Given the description of an element on the screen output the (x, y) to click on. 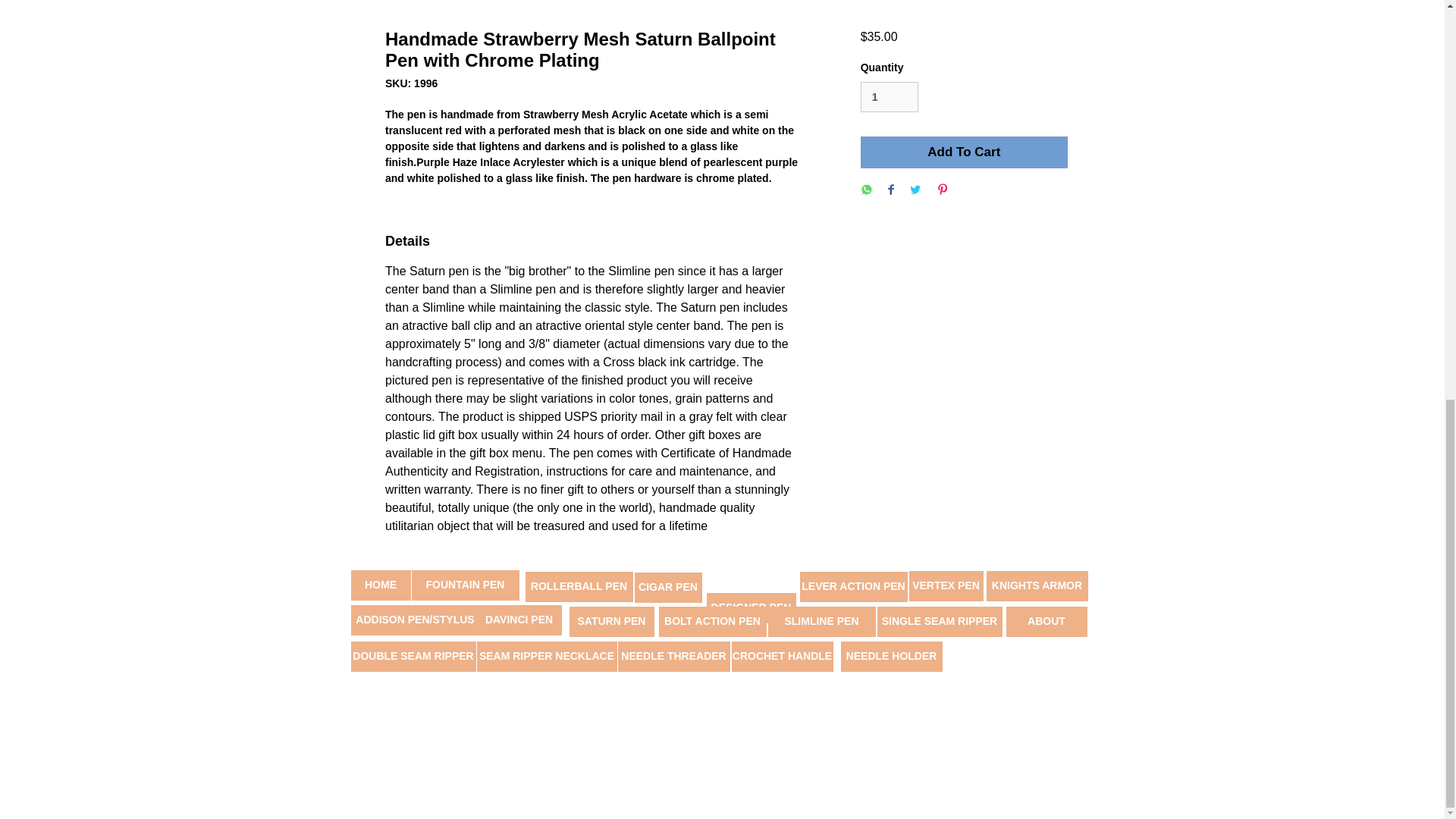
CIGAR PEN (667, 587)
VERTEX PEN (945, 585)
FOUNTAIN PEN (464, 585)
LEVER ACTION PEN (853, 586)
DESIGNER PEN (751, 607)
Add To Cart (963, 152)
KNIGHTS ARMOR (1036, 585)
1 (889, 97)
ROLLERBALL PEN (577, 586)
